Given the description of an element on the screen output the (x, y) to click on. 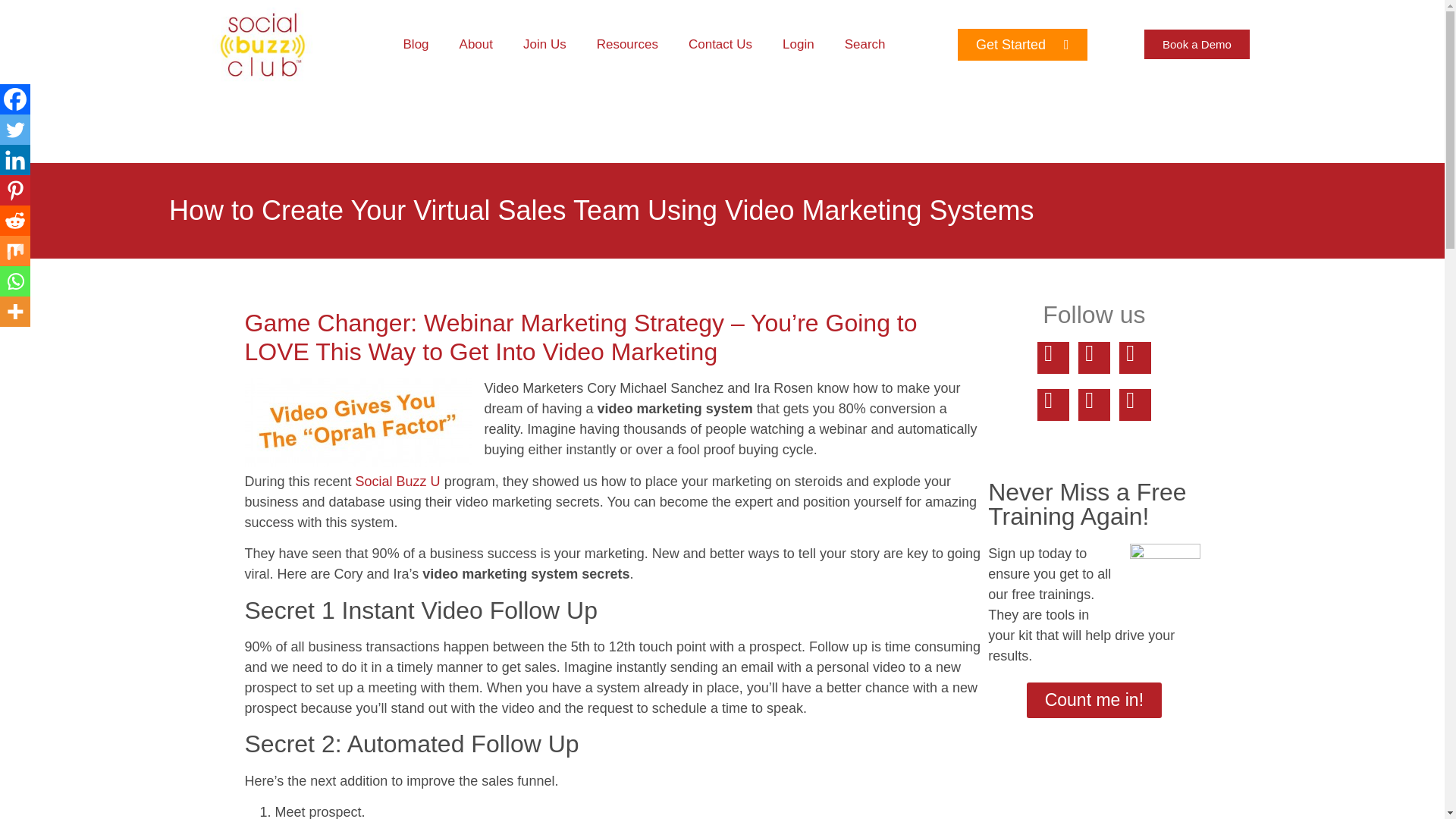
Whatsapp (15, 281)
Join Us (544, 44)
Pinterest (15, 190)
Reddit (15, 220)
Blog (416, 44)
Facebook (15, 99)
Contact Us (719, 44)
More (15, 311)
Automated Webinar Strategy with Mojo Video Marketing (398, 481)
Get Started (1022, 44)
